Given the description of an element on the screen output the (x, y) to click on. 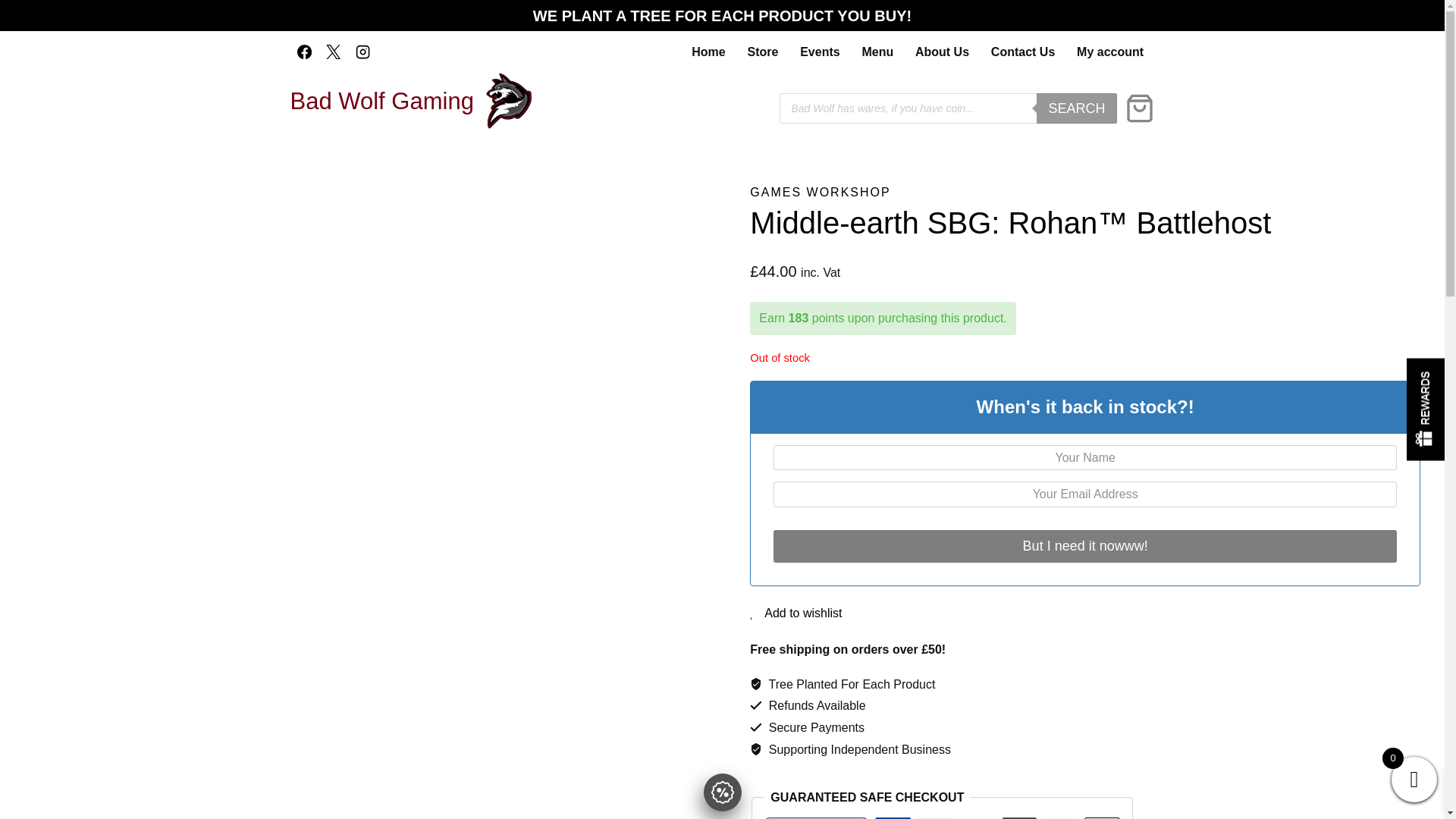
About Us (941, 51)
But I need it nowww! (1084, 545)
GAMES WORKSHOP (819, 192)
My account (1109, 51)
Bad Wolf Gaming (410, 100)
SEARCH (1076, 108)
Contact Us (1022, 51)
Store (762, 51)
Add to wishlist (795, 612)
Menu (877, 51)
